Given the description of an element on the screen output the (x, y) to click on. 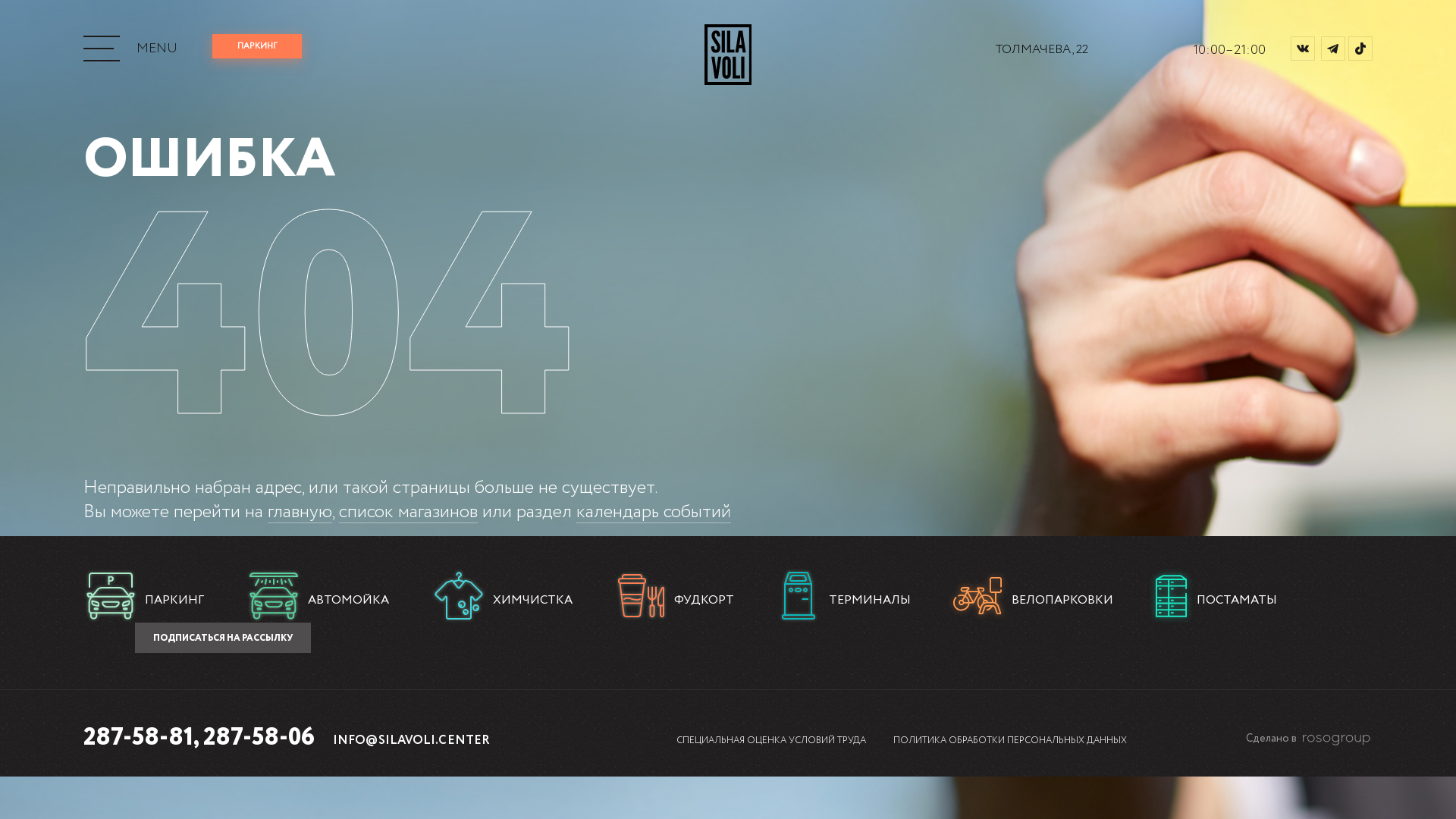
287-58-81 Element type: text (138, 737)
INFO@SILAVOLI.CENTER Element type: text (410, 740)
, 287-58-06 Element type: text (253, 737)
